Given the description of an element on the screen output the (x, y) to click on. 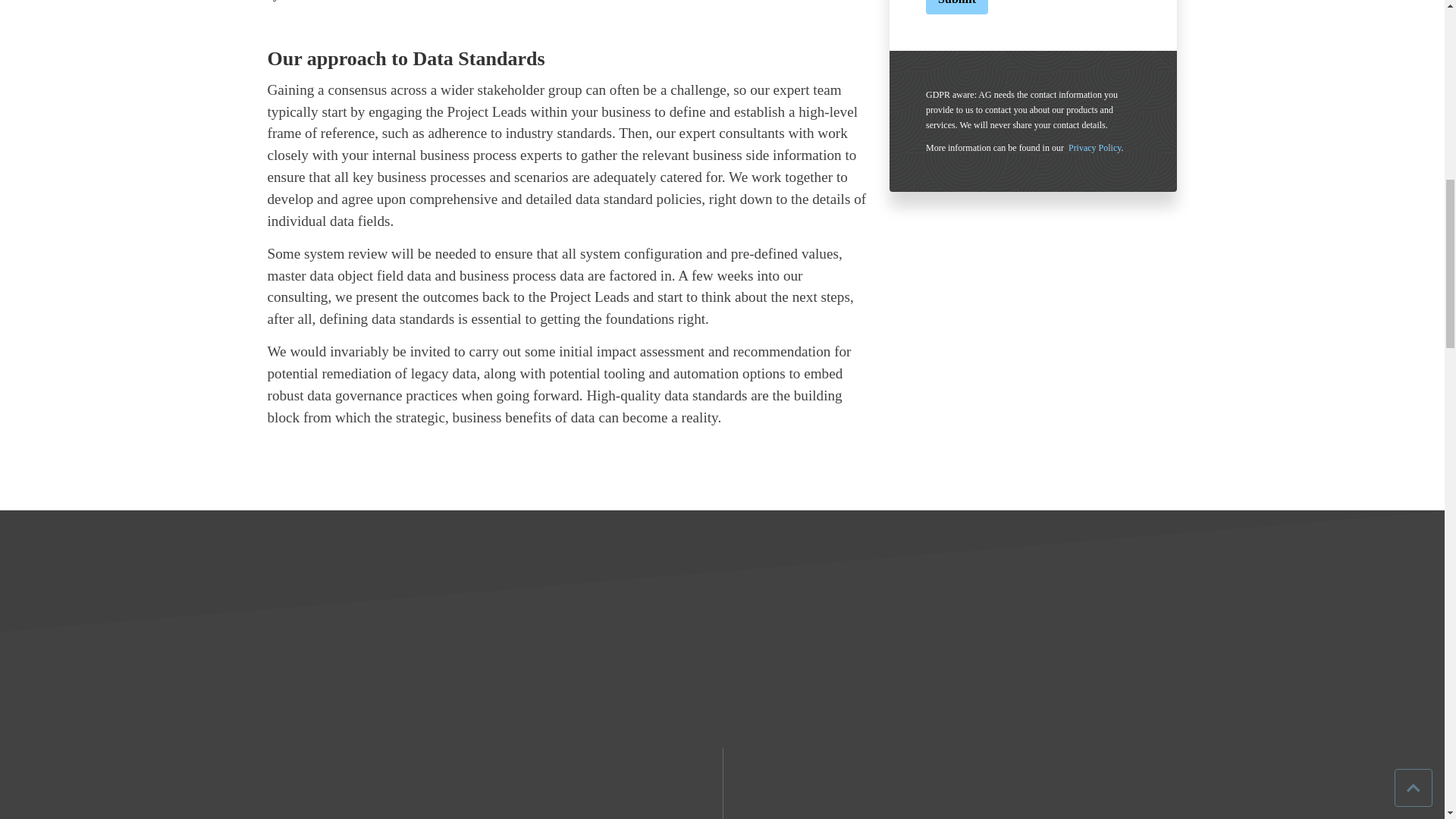
Submit (957, 7)
